Given the description of an element on the screen output the (x, y) to click on. 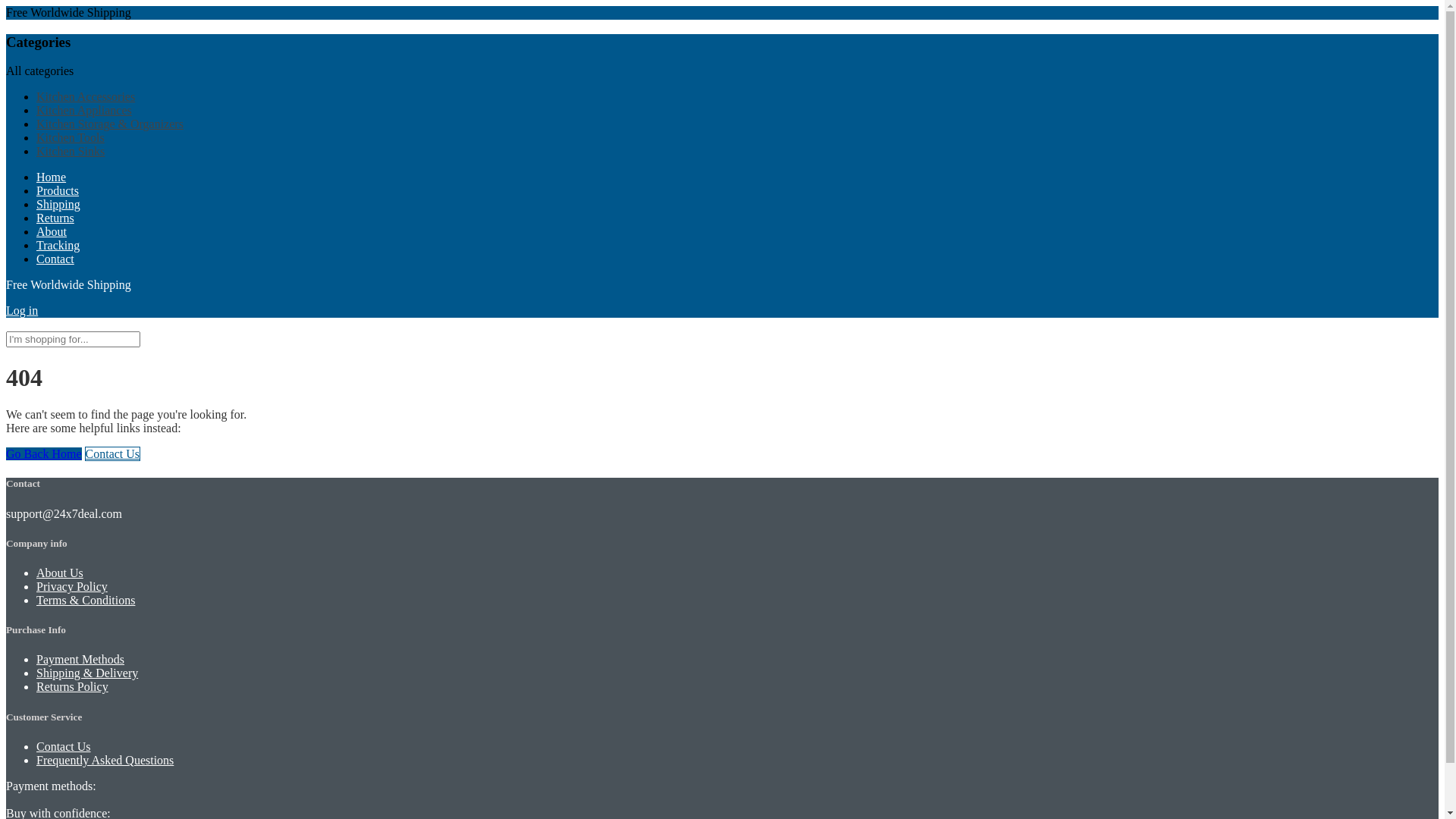
Kitchen Tools Element type: text (70, 137)
Payment Methods Element type: text (80, 658)
Privacy Policy Element type: text (71, 586)
Returns Policy Element type: text (72, 686)
Contact Element type: text (55, 258)
Tracking Element type: text (57, 244)
Frequently Asked Questions Element type: text (104, 759)
Kitchen Appliances Element type: text (83, 109)
Returns Element type: text (55, 217)
About Element type: text (51, 231)
Shipping Element type: text (58, 203)
Go Back Home Element type: text (43, 453)
Kitchen Storage & Organizers Element type: text (109, 123)
Home Element type: text (50, 176)
Shipping & Delivery Element type: text (87, 672)
Kitchen Accessories Element type: text (85, 96)
Products Element type: text (57, 190)
Log in Element type: text (21, 310)
Contact Us Element type: text (63, 746)
Contact Us Element type: text (112, 453)
Terms & Conditions Element type: text (85, 599)
Kitchen Sinks Element type: text (70, 150)
About Us Element type: text (59, 572)
